Given the description of an element on the screen output the (x, y) to click on. 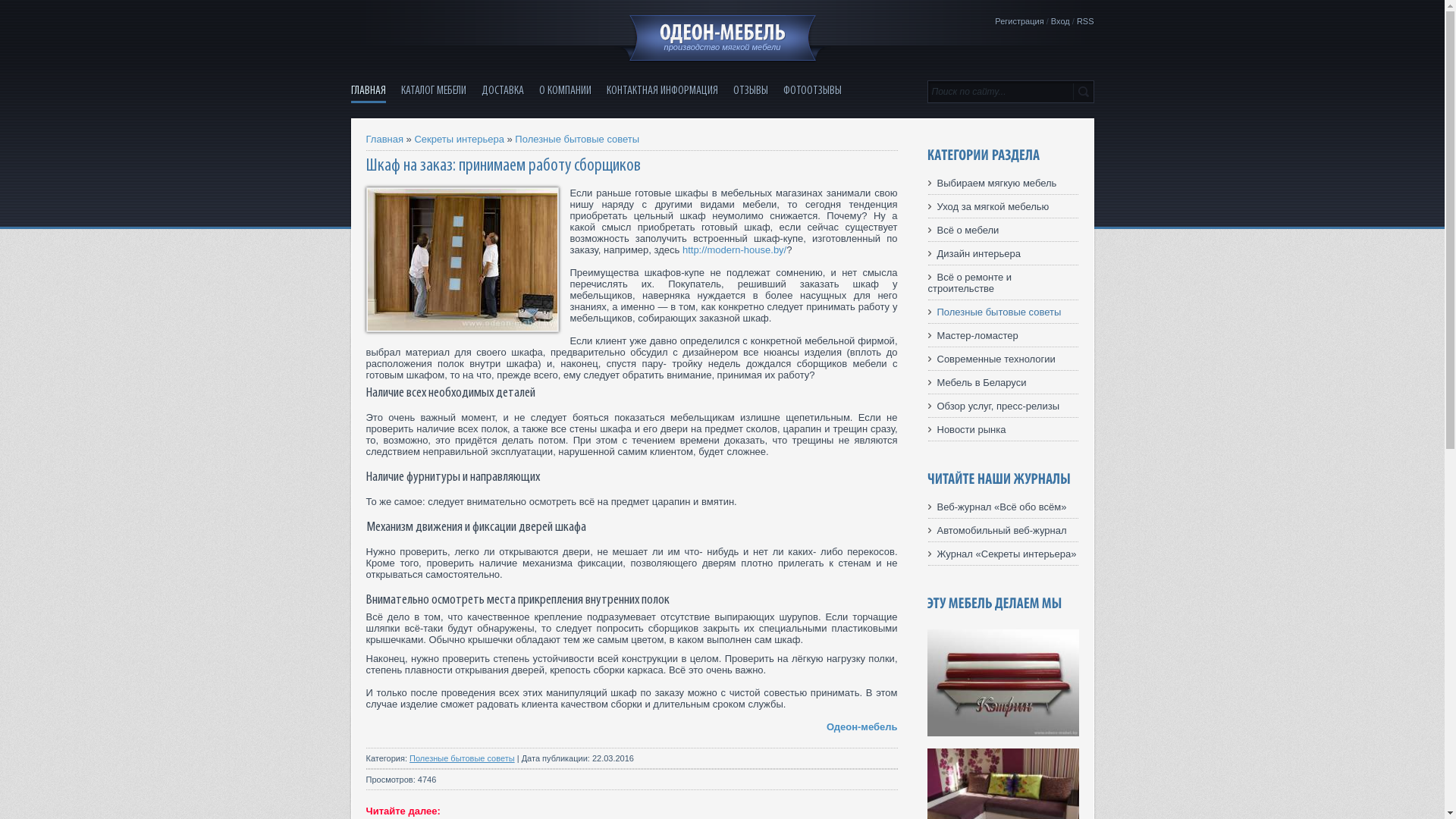
RSS Element type: text (1085, 20)
http://modern-house.by/ Element type: text (734, 249)
